Given the description of an element on the screen output the (x, y) to click on. 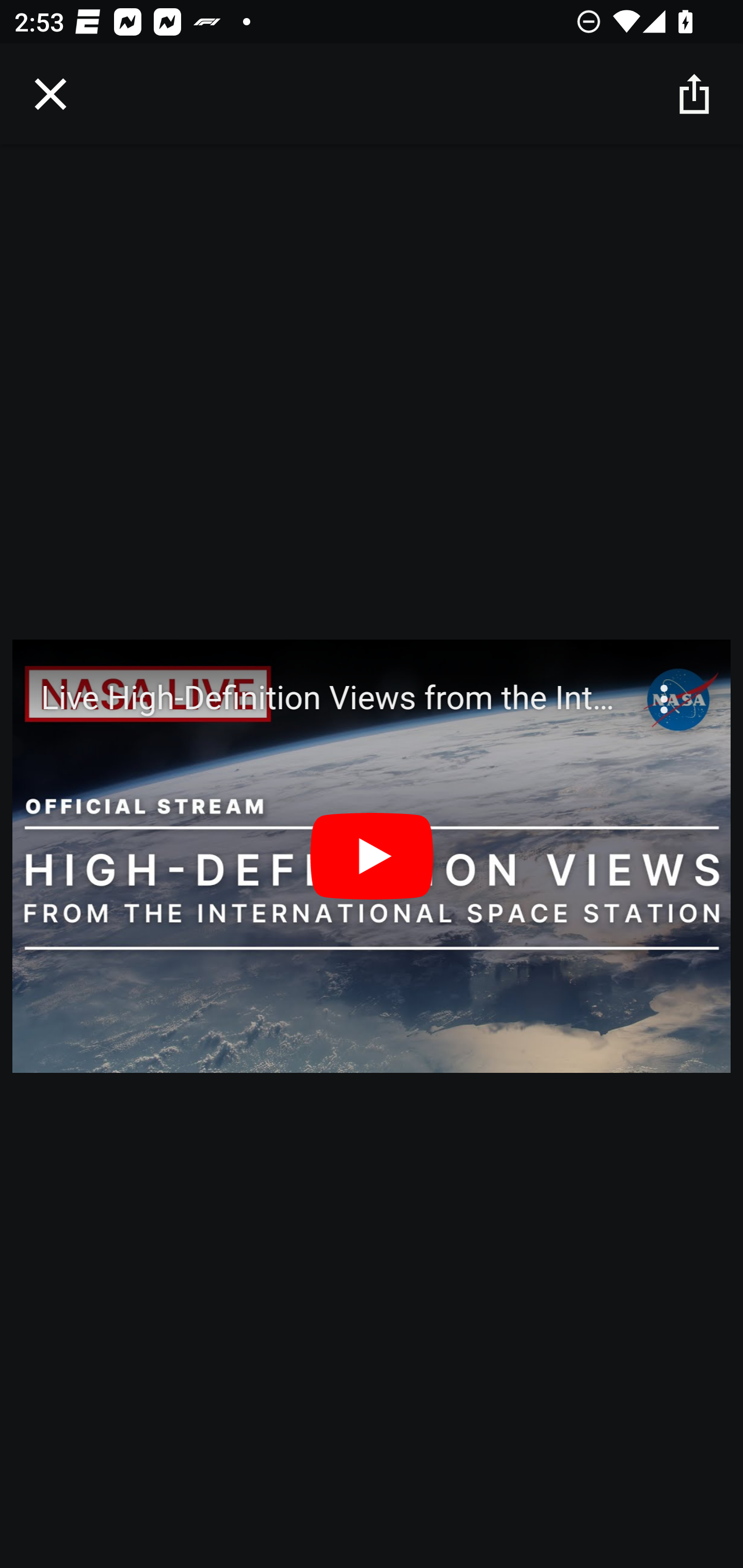
More (666, 687)
Play (371, 856)
